Given the description of an element on the screen output the (x, y) to click on. 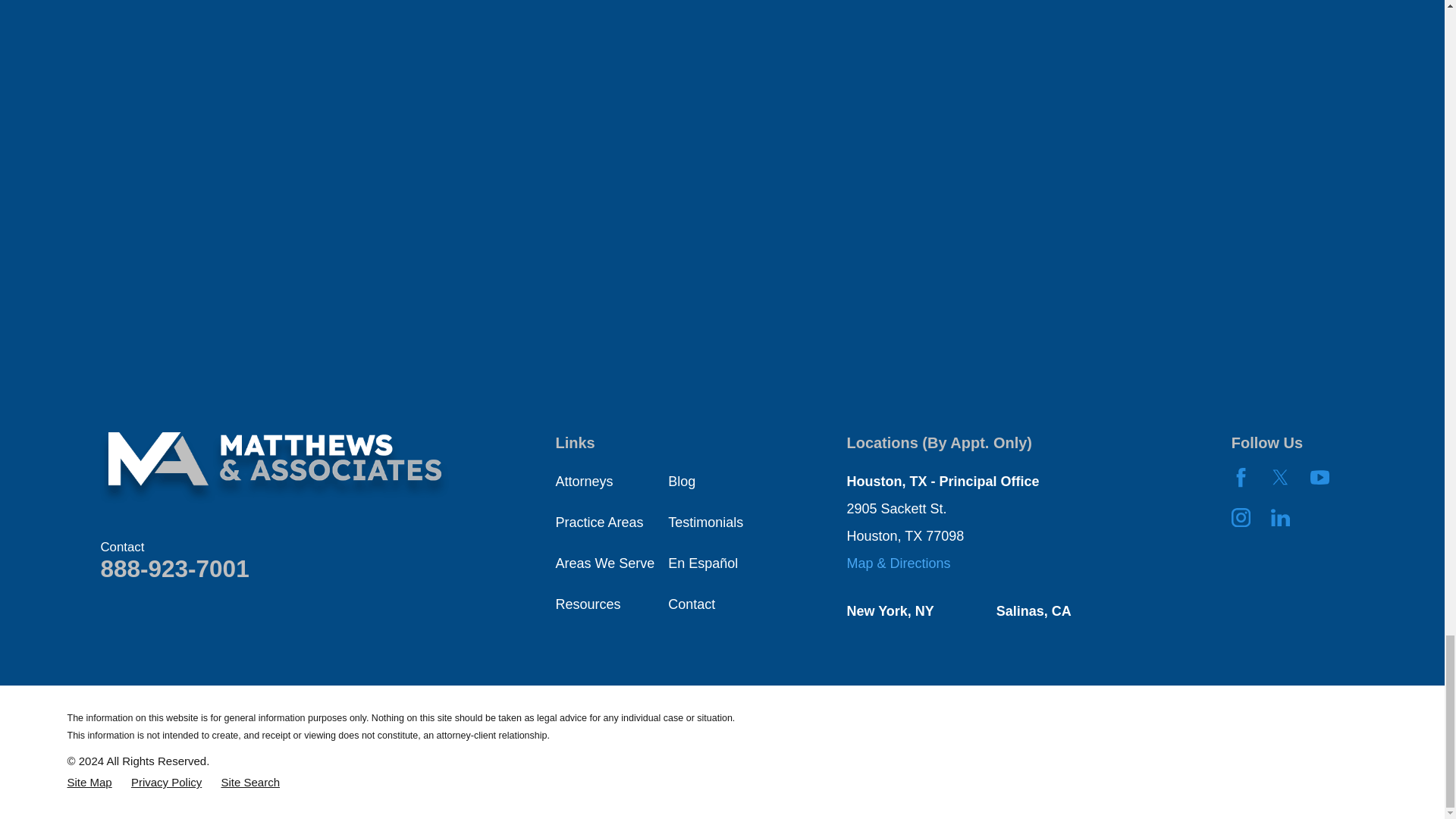
Facebook (1240, 476)
YouTube (1319, 476)
Home (274, 467)
Twitter (1280, 476)
